Given the description of an element on the screen output the (x, y) to click on. 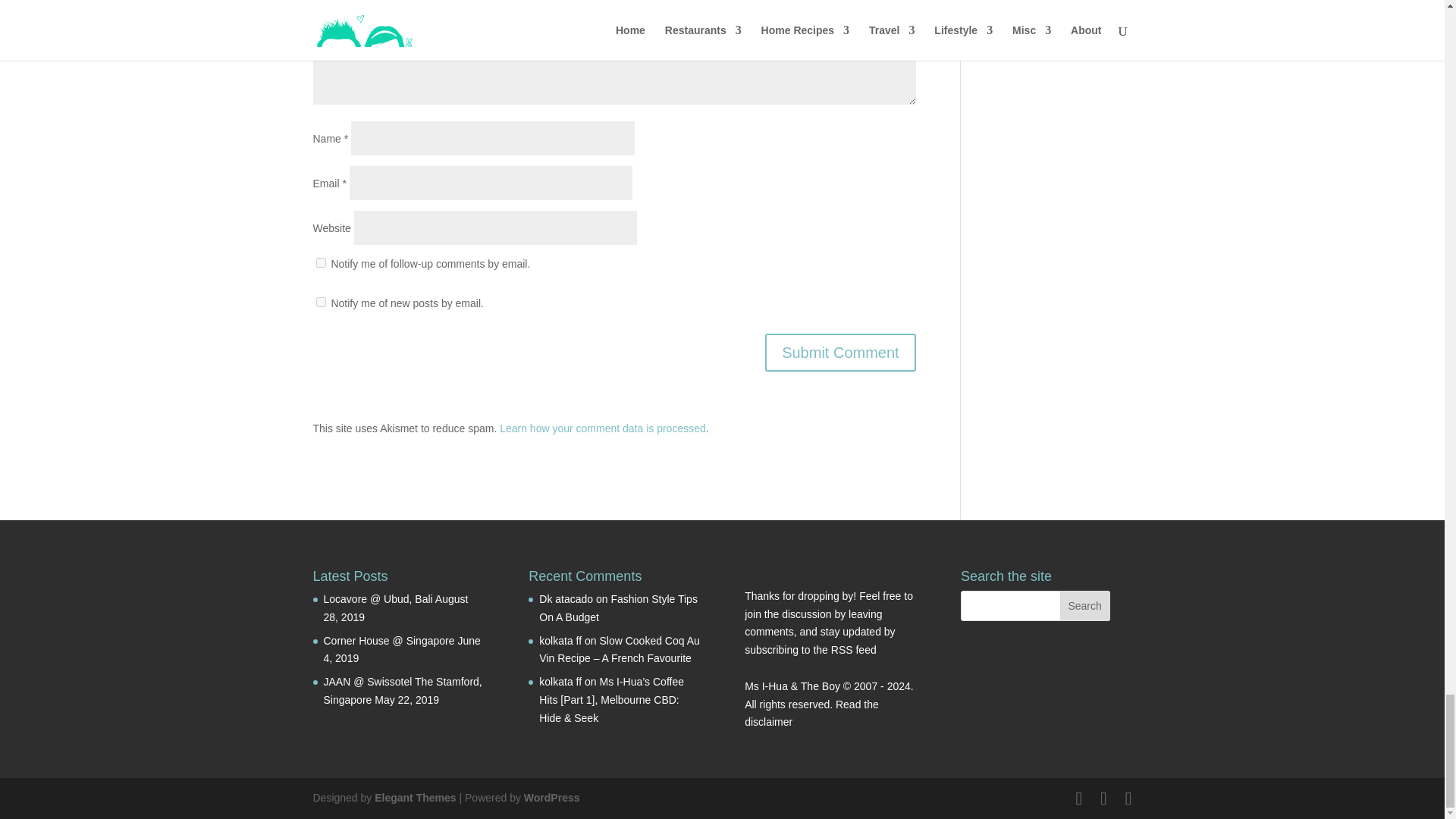
Premium WordPress Themes (414, 797)
Search (1084, 605)
subscribe (319, 302)
Submit Comment (840, 352)
subscribe (319, 262)
